Given the description of an element on the screen output the (x, y) to click on. 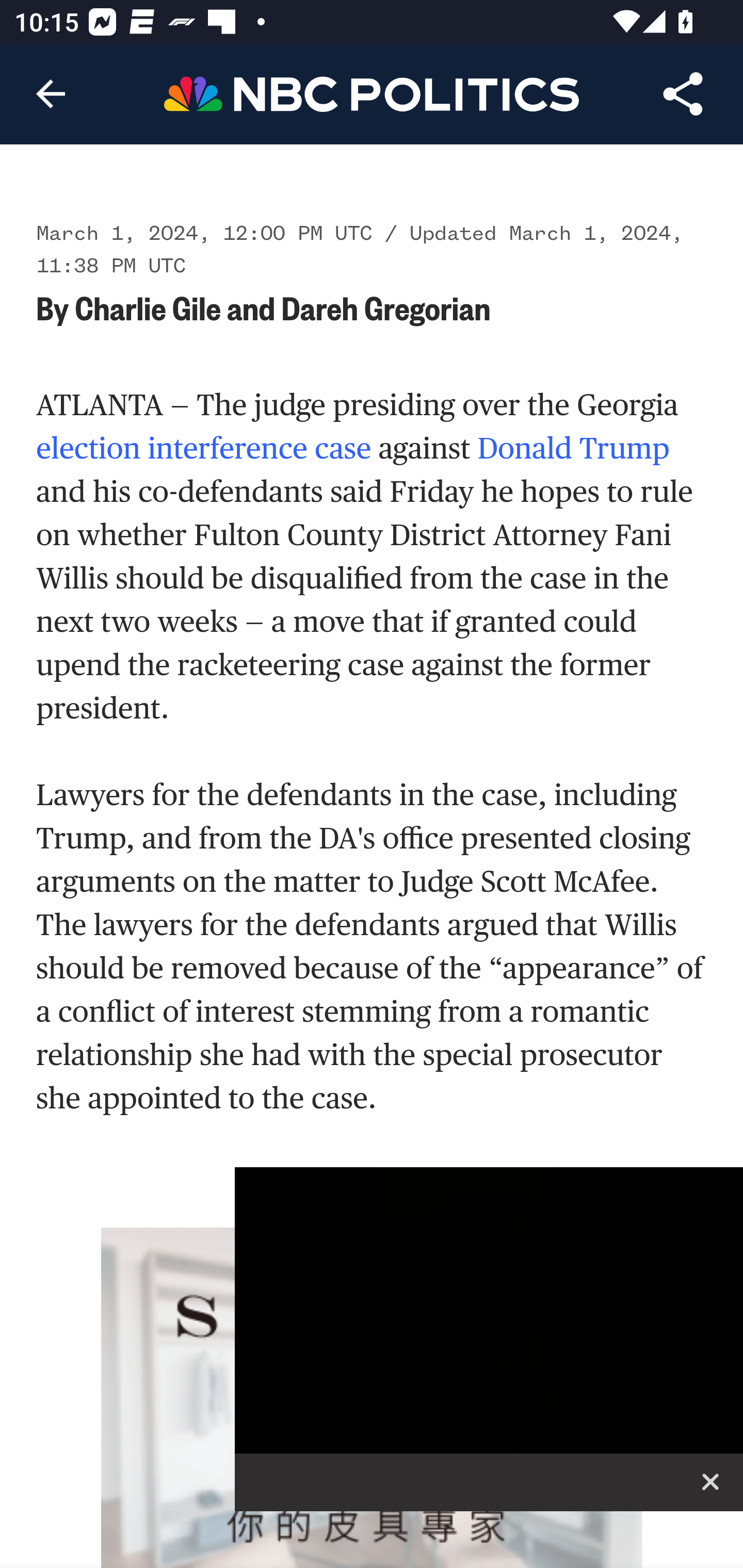
Navigate up (50, 93)
Share Article, button (683, 94)
Header, NBC Politics (371, 93)
election interference case (204, 449)
Donald Trump (573, 449)
